Given the description of an element on the screen output the (x, y) to click on. 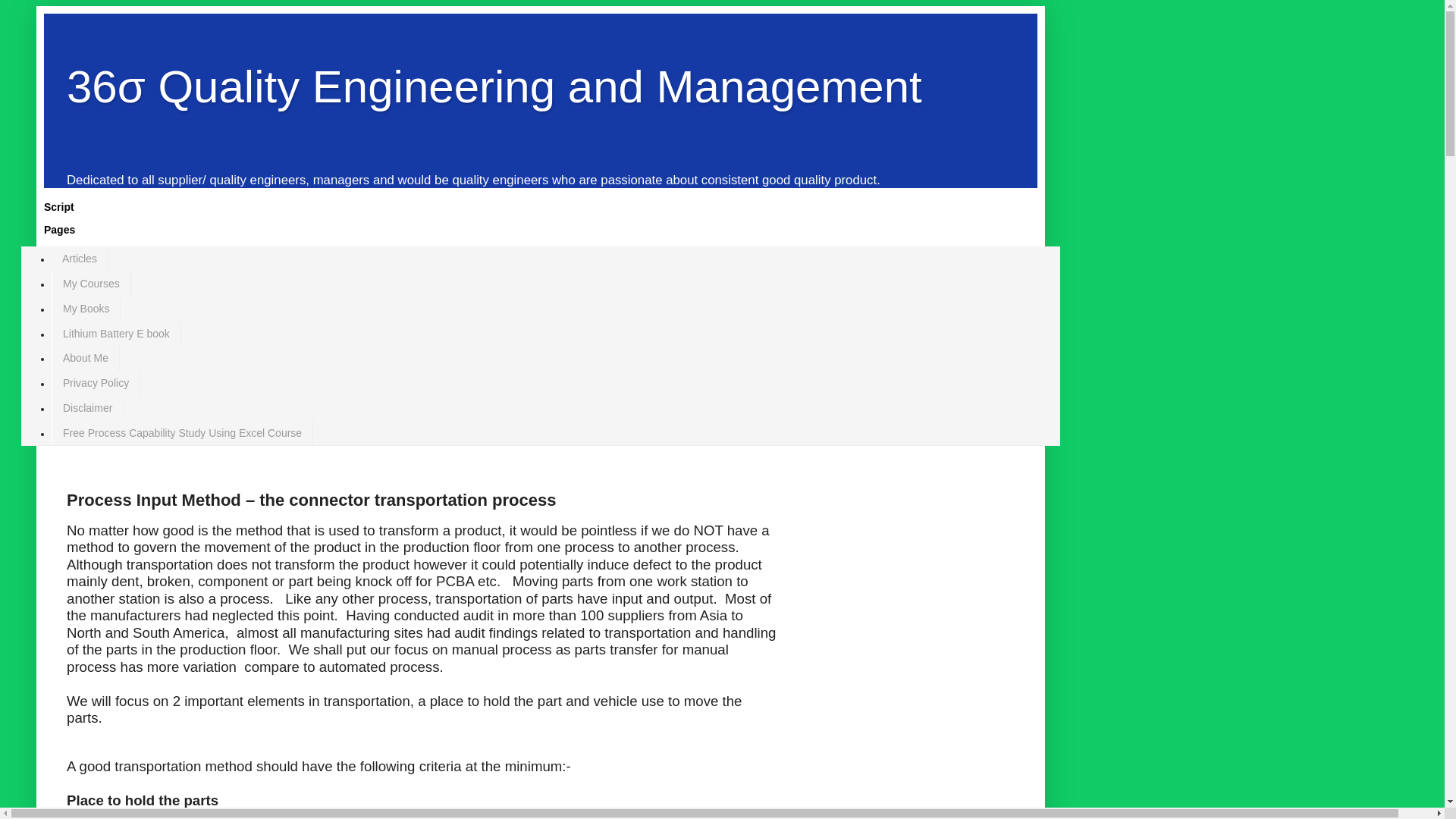
About Me Element type: text (85, 357)
Privacy Policy Element type: text (95, 382)
Lithium Battery E book Element type: text (116, 332)
Disclaimer Element type: text (87, 407)
My Books Element type: text (85, 308)
Articles Element type: text (79, 258)
My Courses Element type: text (91, 283)
Free Process Capability Study Using Excel Course Element type: text (182, 432)
